Given the description of an element on the screen output the (x, y) to click on. 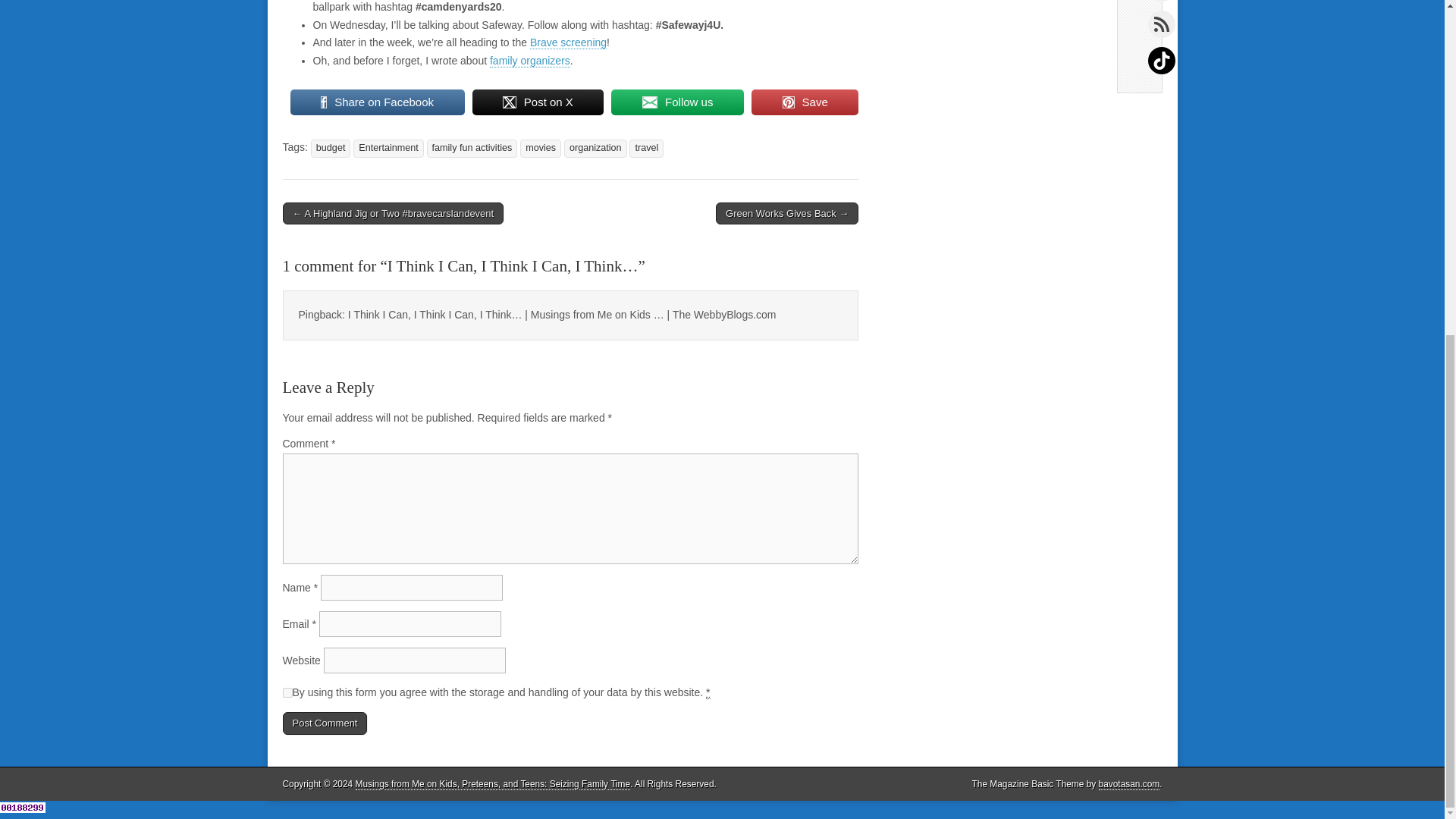
Brave screening (568, 42)
Share on Facebook (376, 102)
family organizers (529, 60)
Post Comment (324, 722)
Post on X (537, 102)
